Given the description of an element on the screen output the (x, y) to click on. 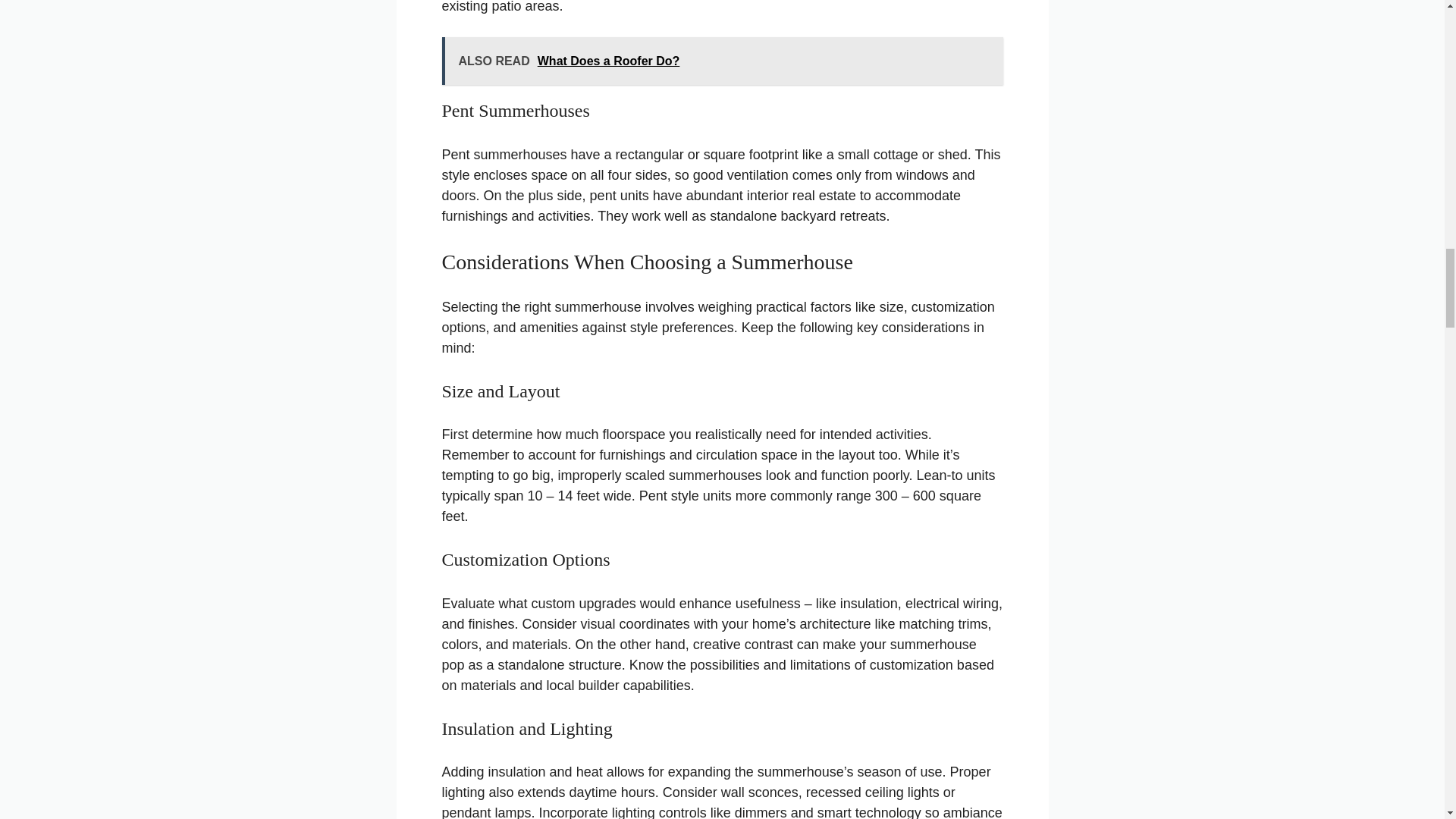
ALSO READ  What Does a Roofer Do? (722, 60)
